Given the description of an element on the screen output the (x, y) to click on. 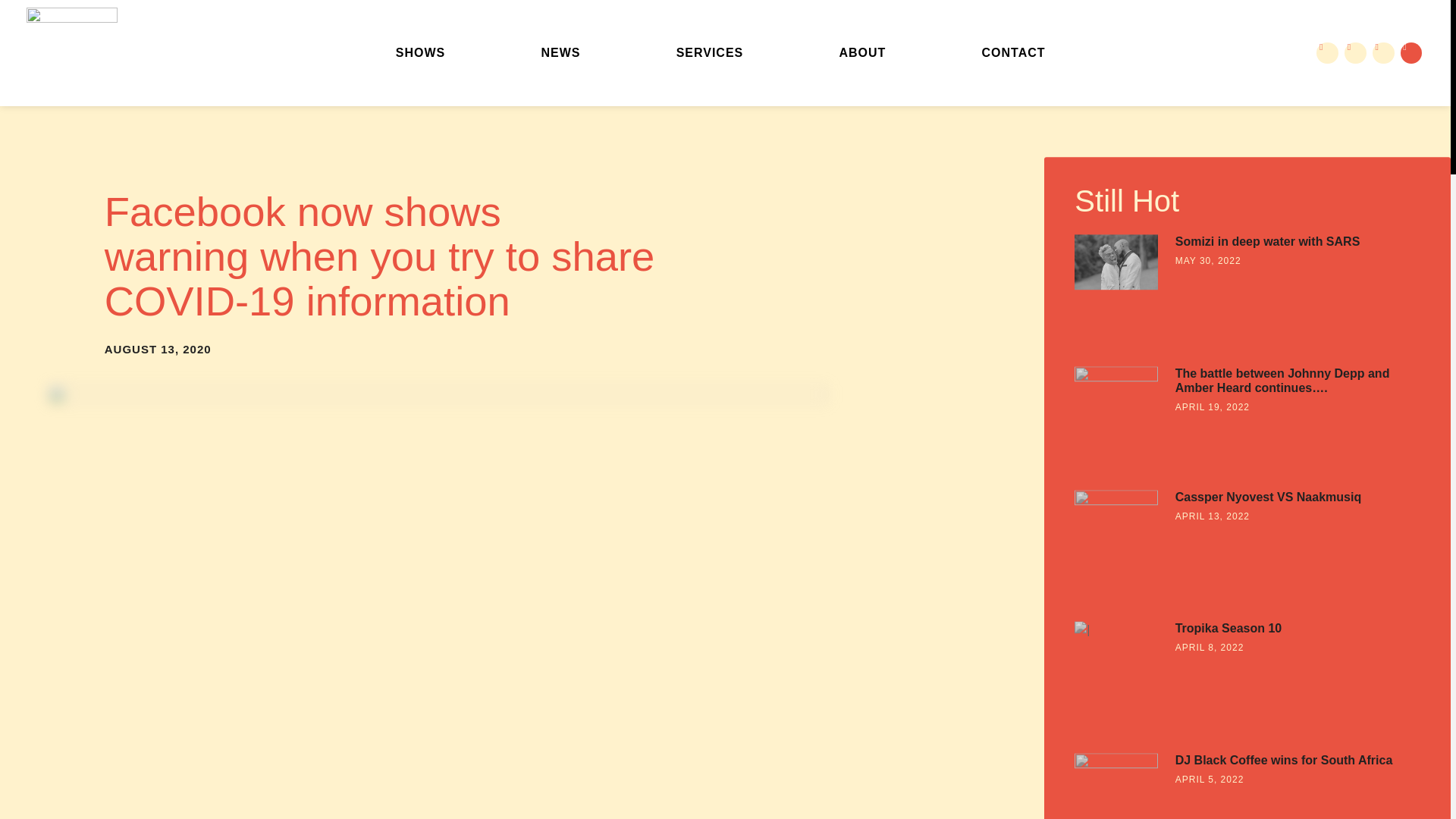
SHOWS (420, 52)
ABOUT (862, 52)
SERVICES (709, 52)
NEWS (561, 52)
CONTACT (1013, 52)
